Given the description of an element on the screen output the (x, y) to click on. 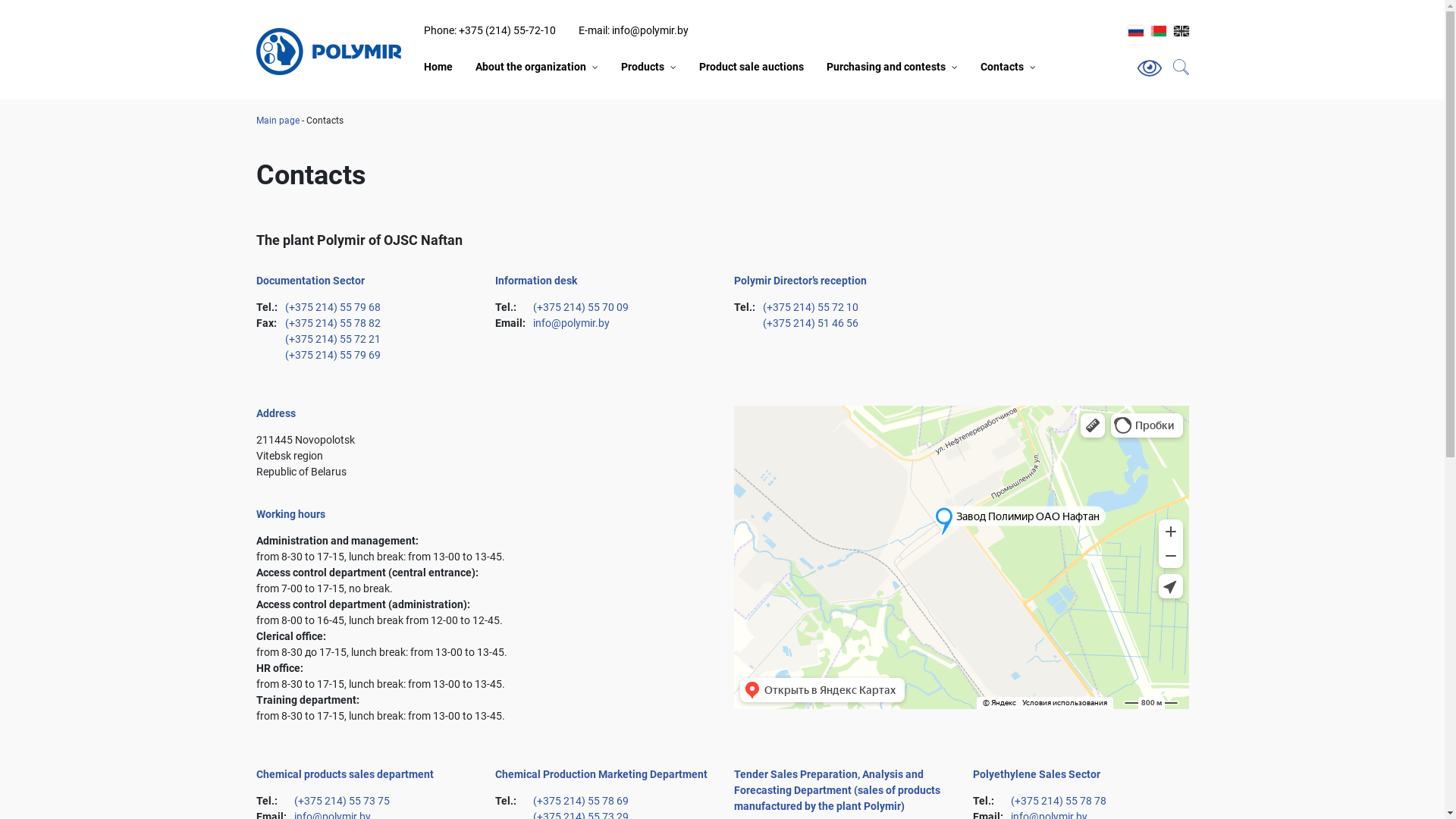
Home Element type: text (437, 66)
(+375 214) 55 72 10 Element type: text (810, 307)
Departments Element type: text (1010, 88)
(+375 214) 55 72 21 Element type: text (332, 338)
Product sale auctions Element type: text (751, 66)
Phone: +375 (214) 55-72-10 Element type: text (489, 30)
(+375 214) 55 78 82 Element type: text (332, 322)
General information Element type: text (526, 88)
E-mail: info@polymir.by Element type: text (632, 30)
Product Catalogue Element type: text (717, 88)
Search Element type: text (1125, 65)
(+375 214) 55 78 69 Element type: text (579, 800)
Purchasing and contests Element type: text (885, 66)
(+375 214) 55 79 68 Element type: text (332, 307)
(+375 214) 51 46 56 Element type: text (810, 322)
(+375 214) 55 73 75 Element type: text (341, 800)
Products Element type: text (641, 66)
Main page Element type: text (277, 120)
(+375 214) 55 79 69 Element type: text (332, 354)
(+375 214) 55 78 78 Element type: text (1057, 800)
(+375 214) 55 70 09 Element type: text (579, 307)
Low density polyethylene Element type: text (943, 88)
About the organization Element type: text (529, 66)
Contacts Element type: text (1000, 66)
Purchase of chemical raw materials and auxiliary materials Element type: text (921, 96)
info@polymir.by Element type: text (570, 322)
Purchase of freight forwarding services Element type: text (921, 88)
